Given the description of an element on the screen output the (x, y) to click on. 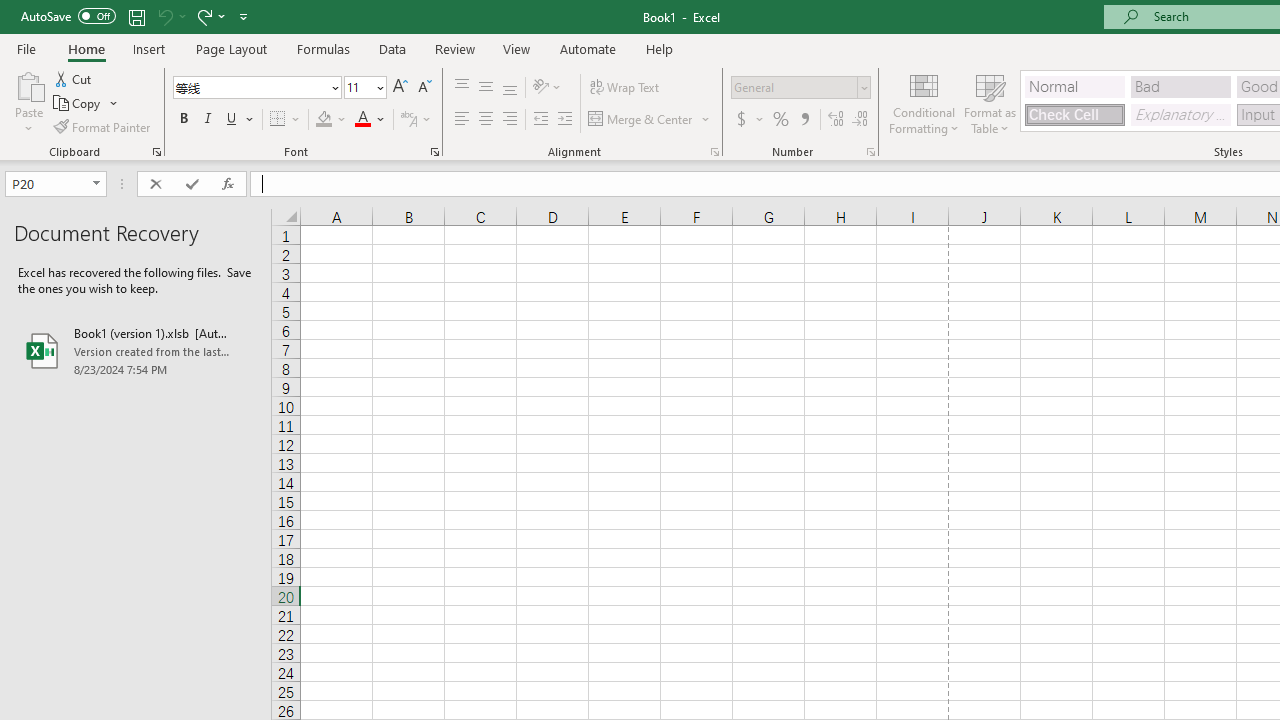
Percent Style (781, 119)
Format Painter (103, 126)
